Given the description of an element on the screen output the (x, y) to click on. 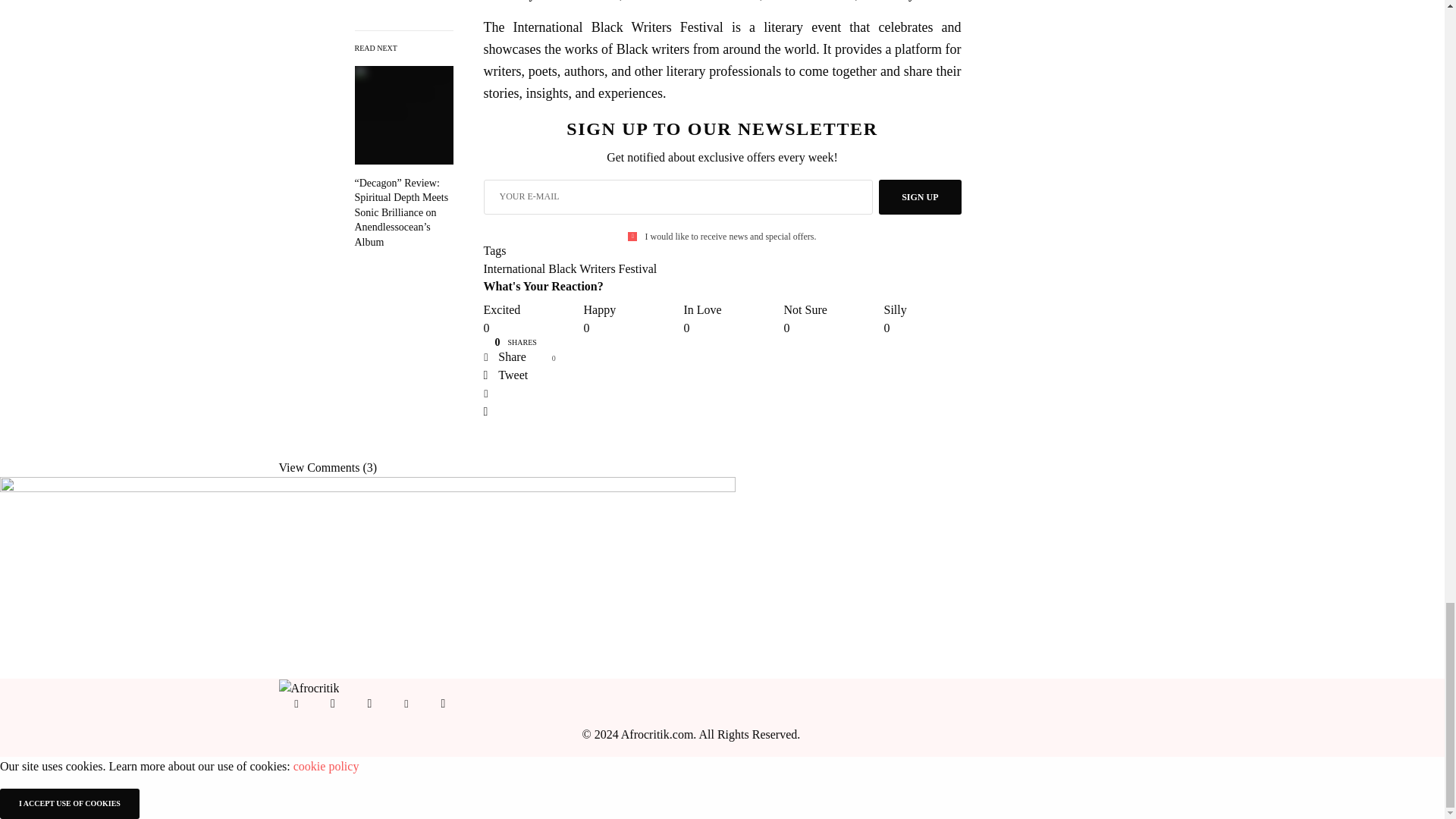
International Black Writers Festival (570, 268)
SIGN UP (919, 196)
Afrocritik (309, 686)
